Given the description of an element on the screen output the (x, y) to click on. 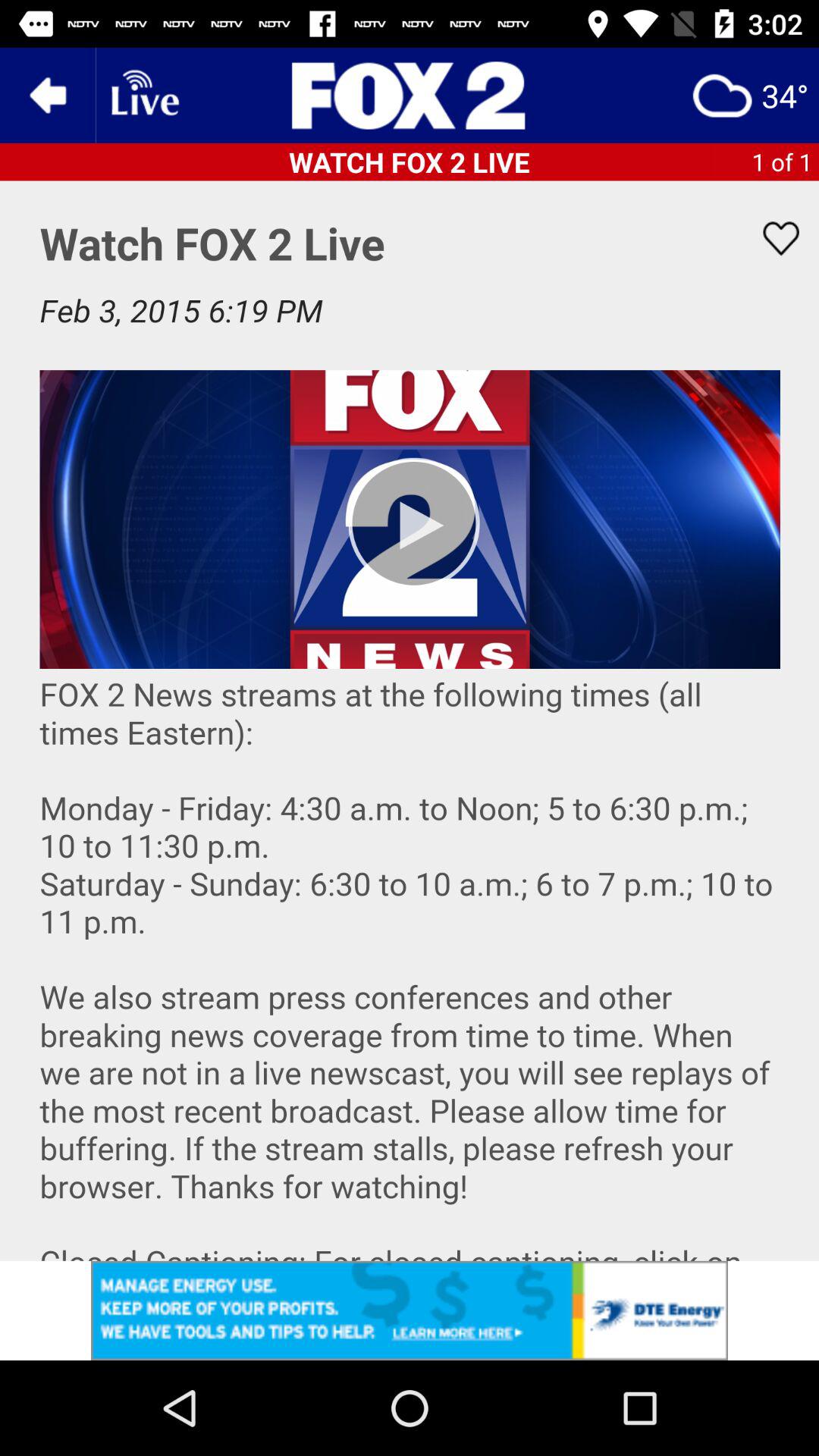
go to live (143, 95)
